Given the description of an element on the screen output the (x, y) to click on. 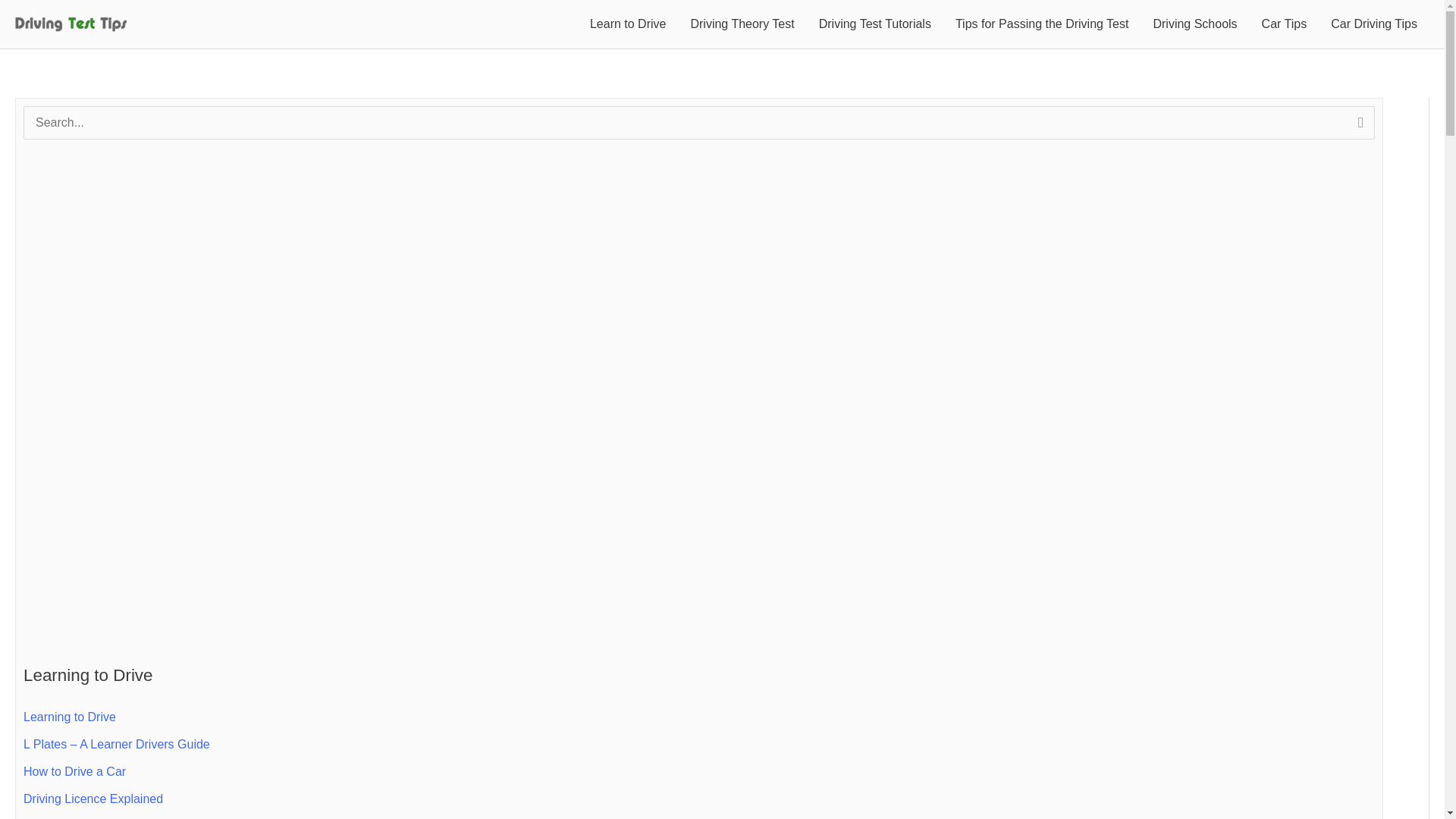
Car Tips (1284, 24)
Driving Theory Test (742, 24)
Learning to Drive (69, 716)
Tips for Passing the Driving Test (1042, 24)
How to Drive a Car (74, 771)
Learn to Drive (628, 24)
Car Driving Tips (1374, 24)
Driving Schools (1194, 24)
Driving Test Tutorials (874, 24)
Driving Licence Explained (93, 798)
